Given the description of an element on the screen output the (x, y) to click on. 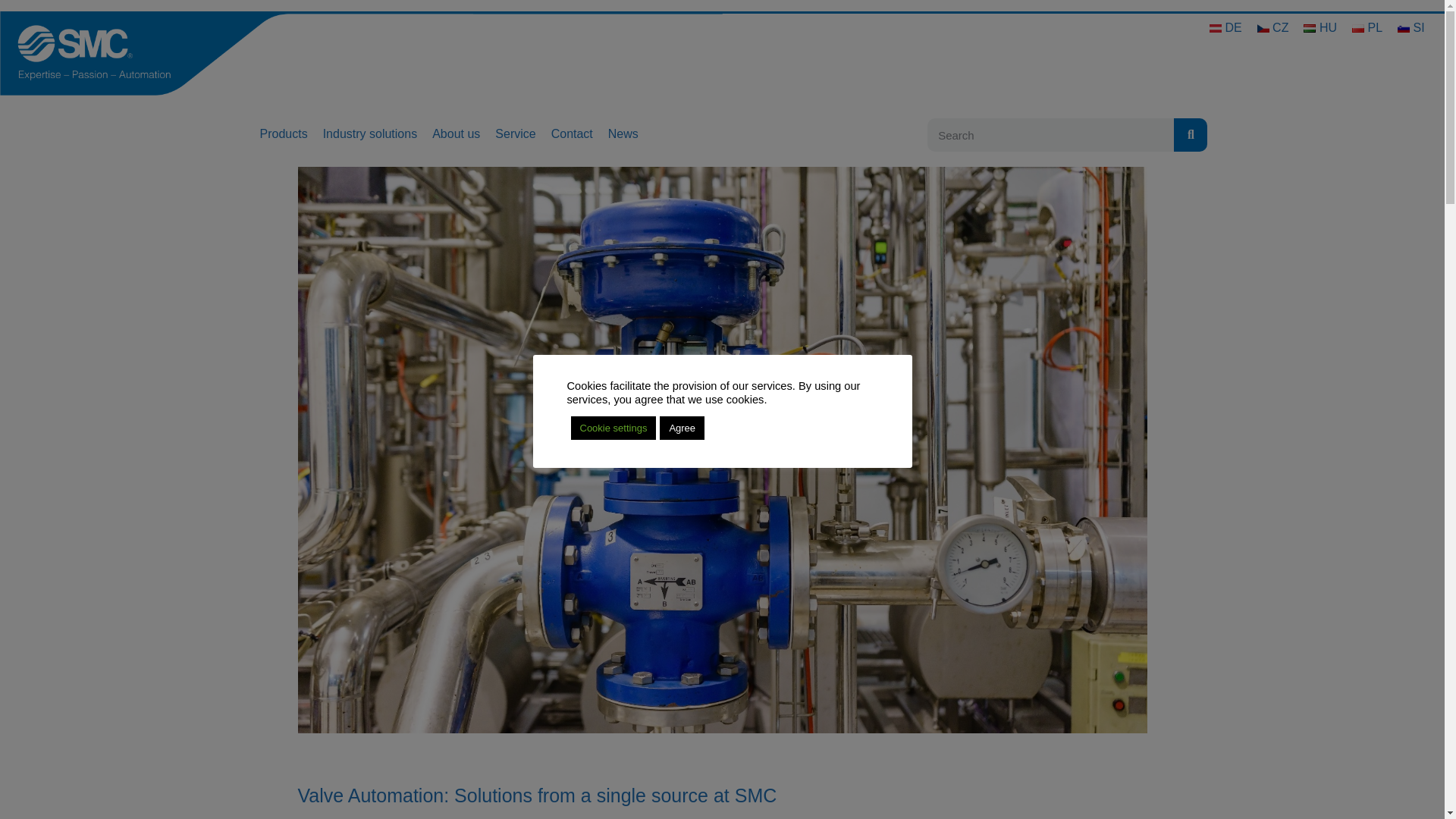
DE (1225, 27)
CZ (1272, 27)
Industry solutions (370, 133)
Service (515, 133)
PL (1366, 27)
Products (283, 133)
HU (1319, 27)
SI (1411, 27)
Contact (571, 133)
News (623, 133)
